Given the description of an element on the screen output the (x, y) to click on. 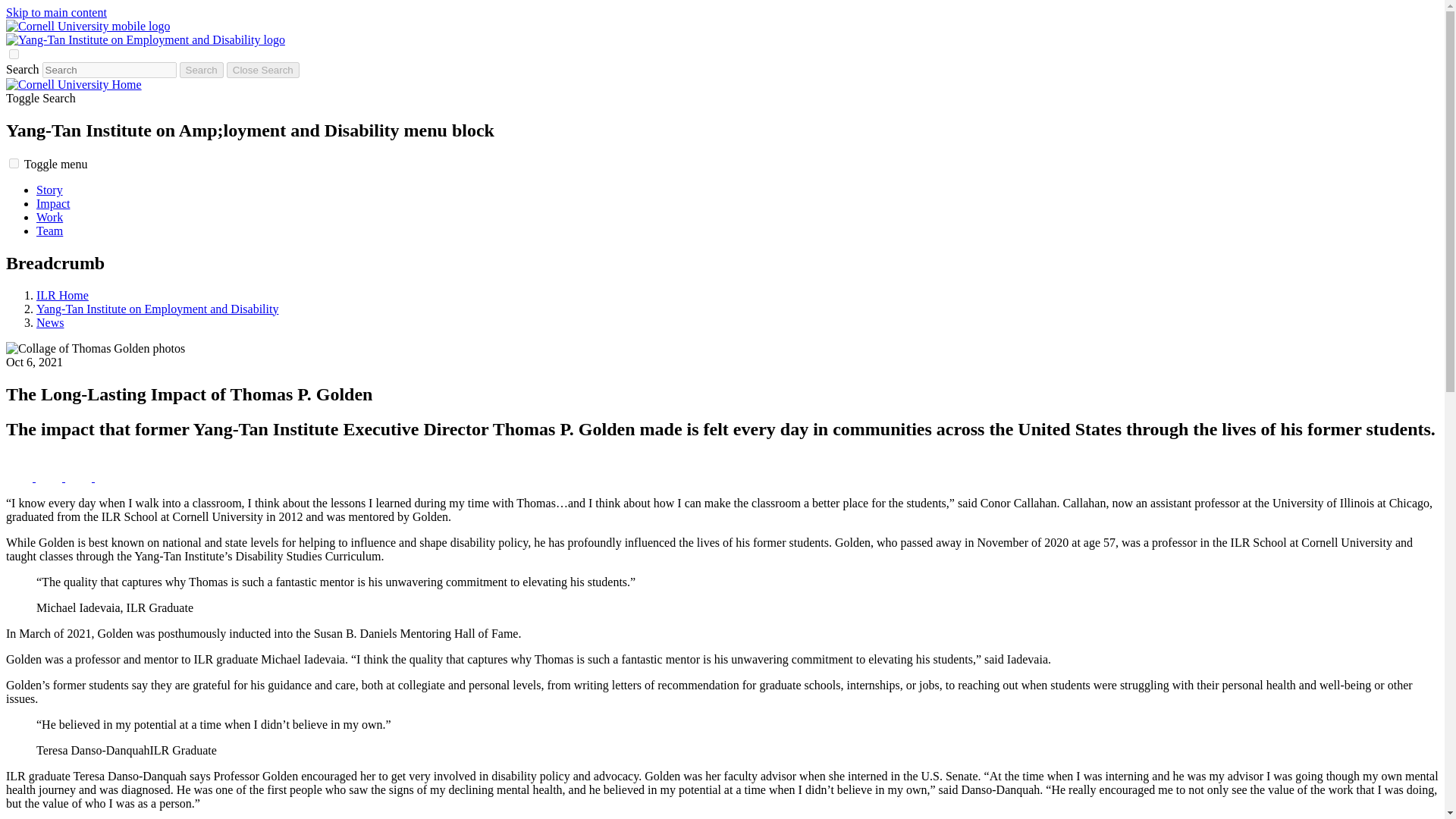
Yang-Tan Institute on Employment and Disability (157, 308)
Story (49, 189)
Skip to main content (55, 11)
Share to Facebook (19, 477)
on (13, 163)
Share to Linkedin (79, 477)
Close Search (263, 69)
News (50, 322)
Work (49, 216)
Share to Email (107, 477)
